Given the description of an element on the screen output the (x, y) to click on. 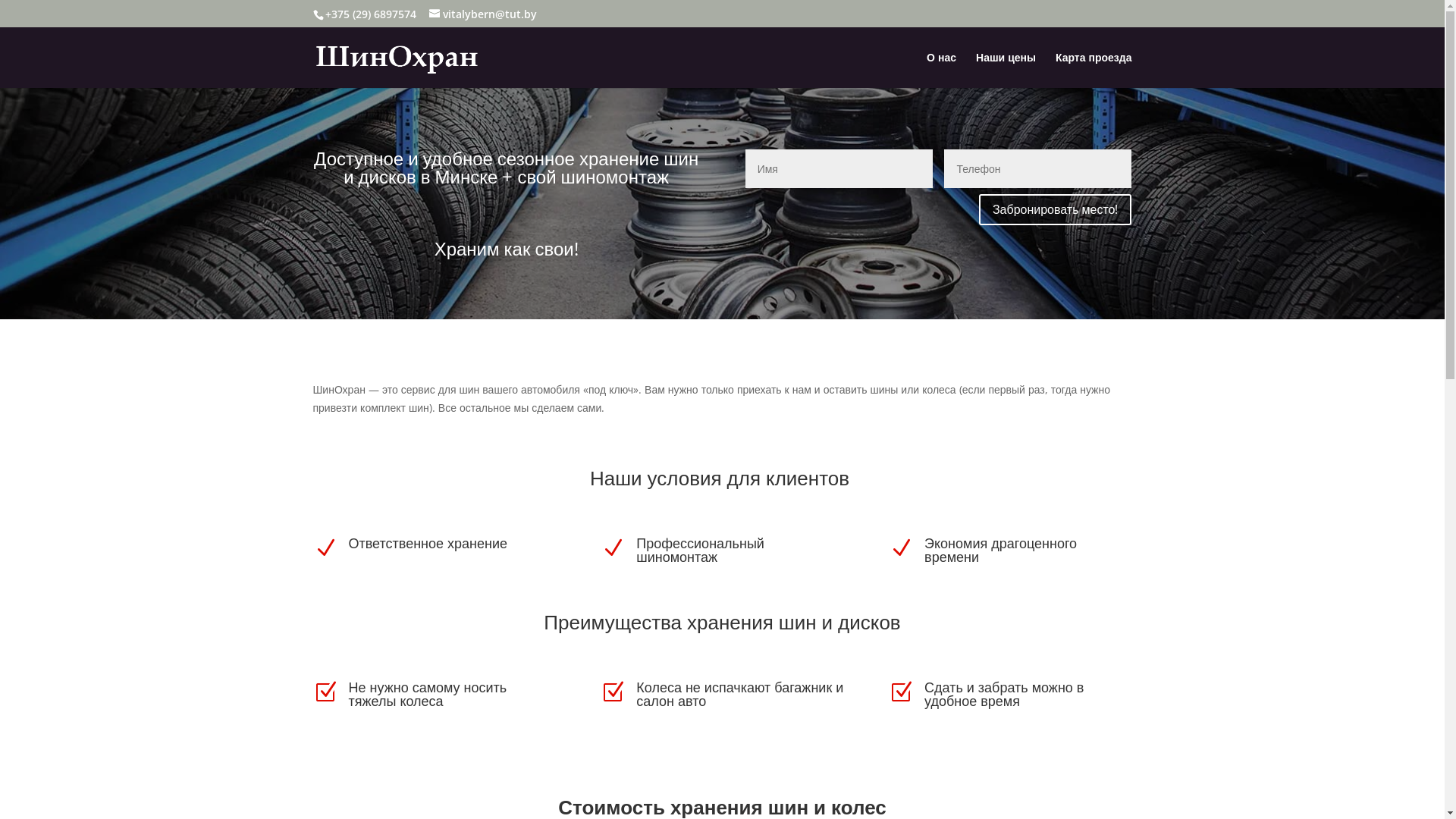
vitalybern@tut.by Element type: text (482, 13)
+375 (29) 6897574 Element type: text (369, 13)
